Given the description of an element on the screen output the (x, y) to click on. 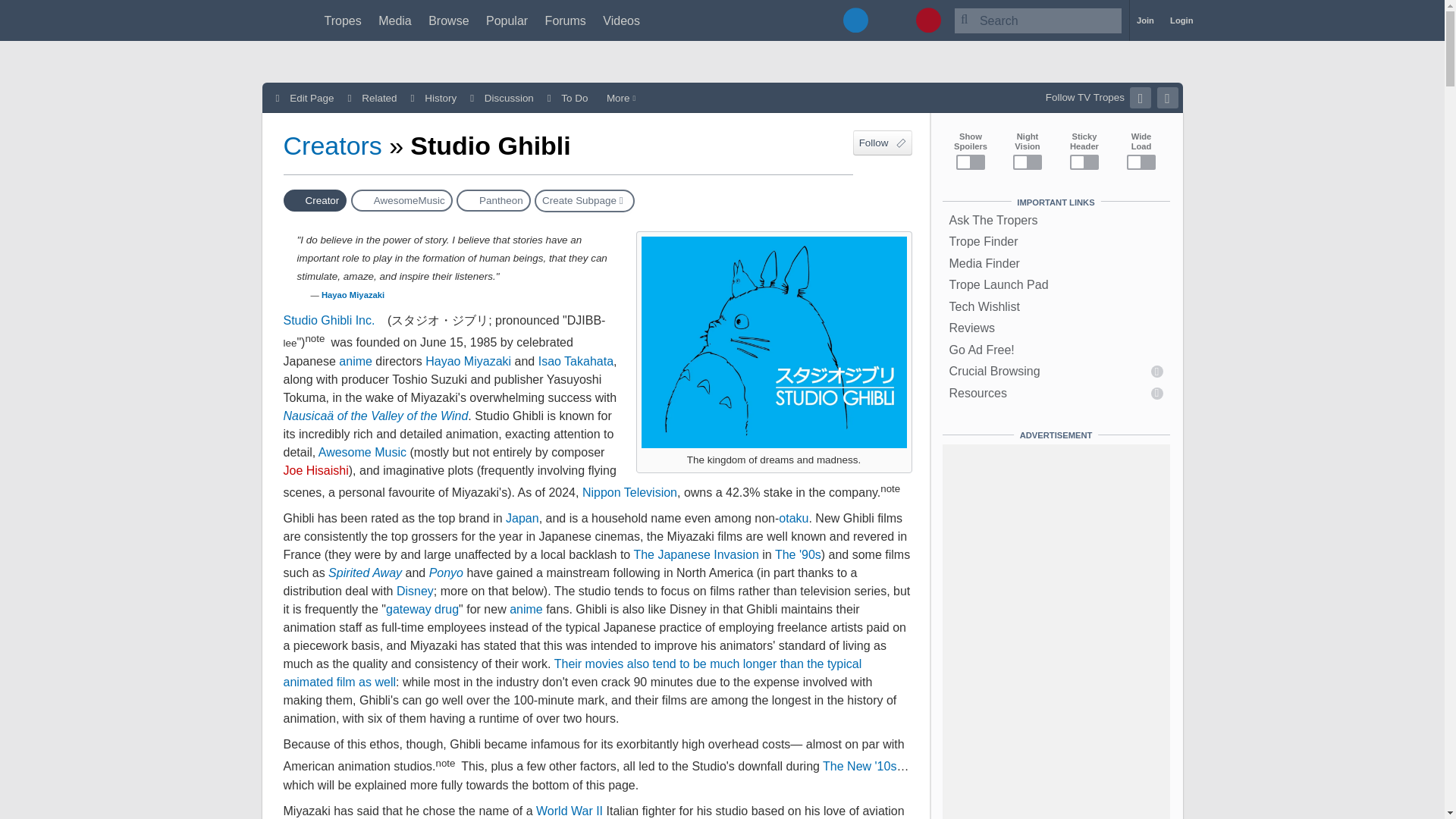
Videos (621, 20)
Forums (565, 20)
Login (1181, 20)
Media (395, 20)
The Creator page (315, 200)
Popular (506, 20)
Tropes (342, 20)
Browse (448, 20)
The Pantheon page (494, 200)
The AwesomeMusic page (401, 200)
